Given the description of an element on the screen output the (x, y) to click on. 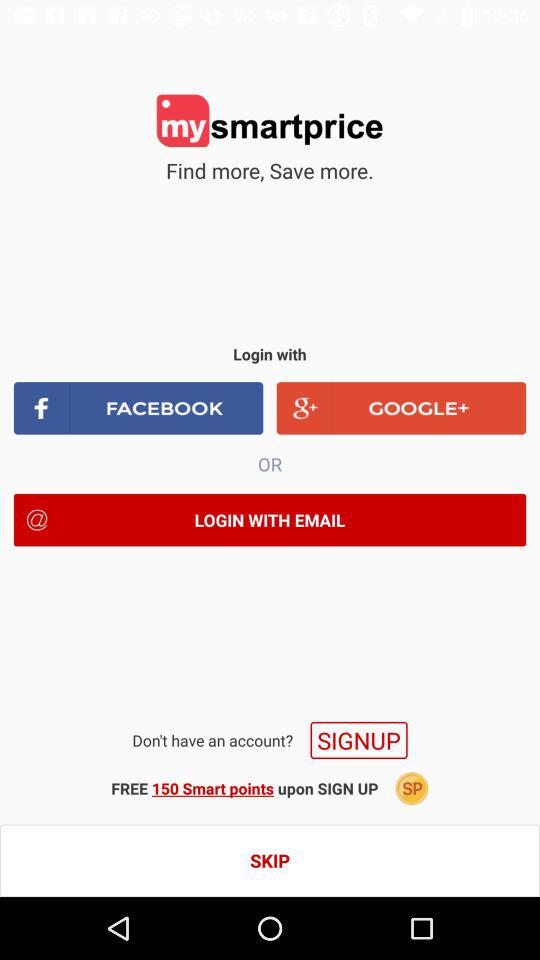
press item to the right of don t have (358, 739)
